Given the description of an element on the screen output the (x, y) to click on. 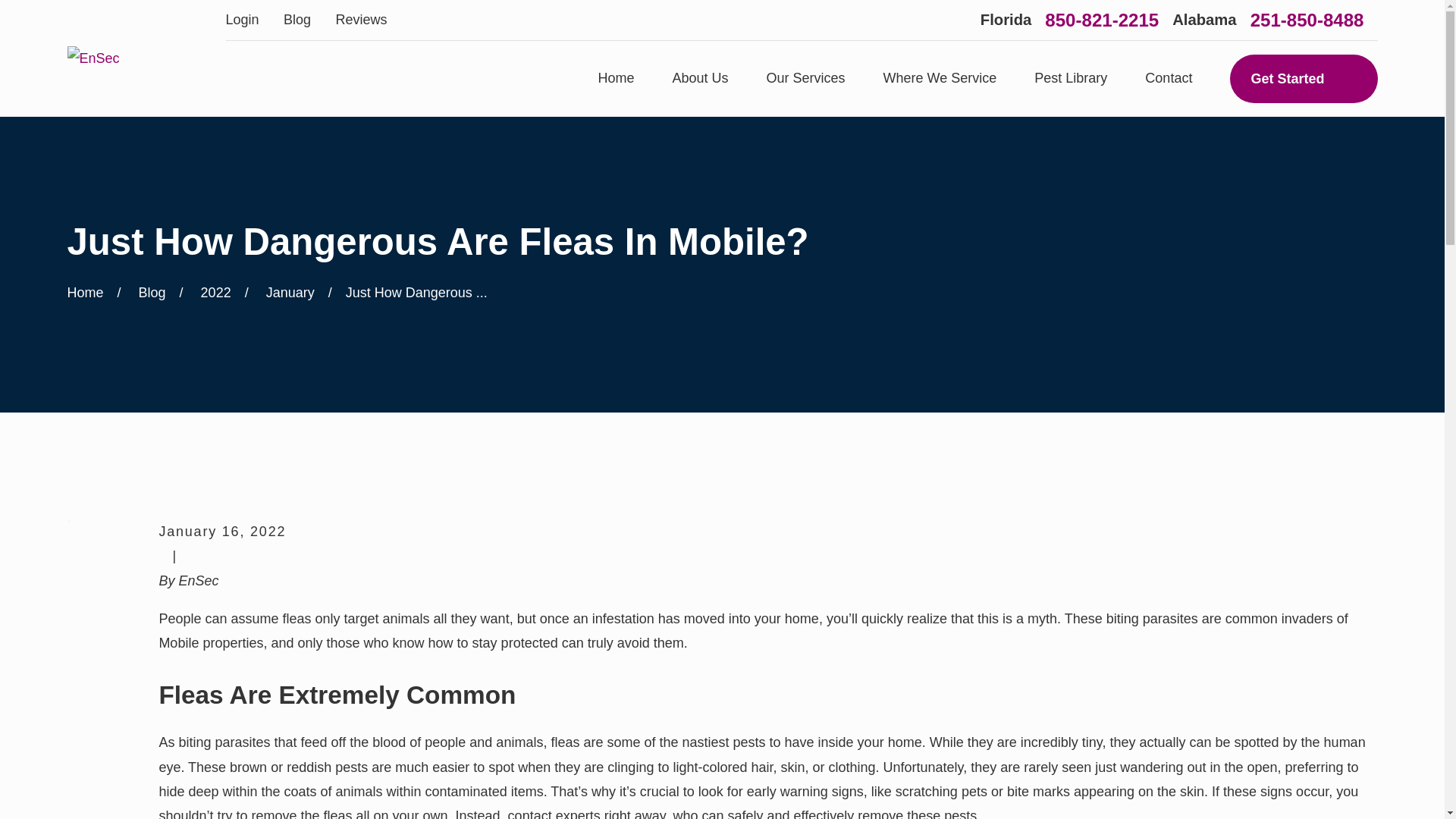
About Us (700, 78)
Reviews (360, 19)
251-850-8488 (1307, 19)
Our Services (806, 78)
Home (92, 58)
Go Home (84, 292)
Contact (1168, 78)
Blog (297, 19)
850-821-2215 (1101, 19)
Pest Library (1069, 78)
Where We Service (940, 78)
Login (242, 19)
EnSec (92, 57)
